Given the description of an element on the screen output the (x, y) to click on. 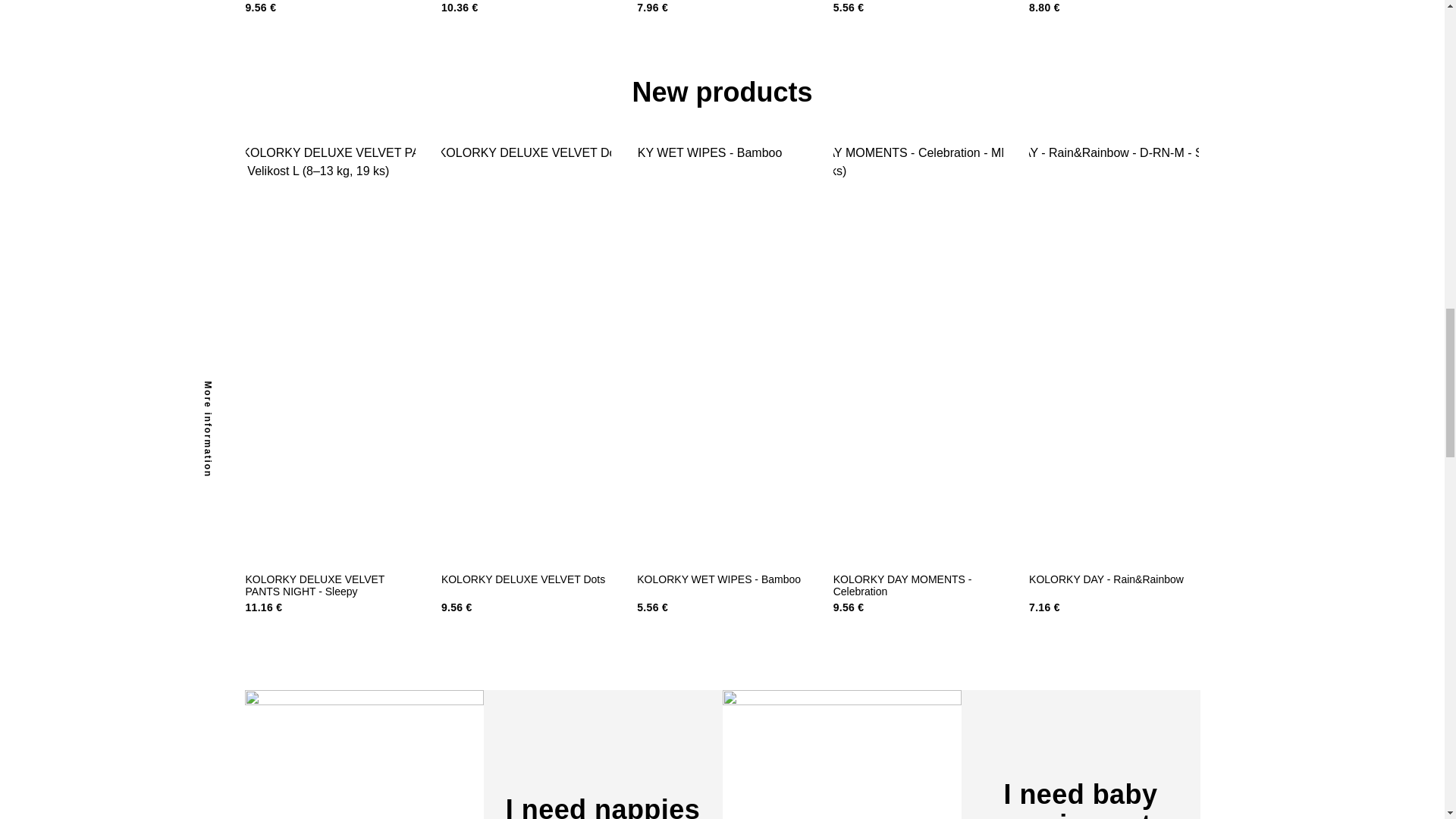
I need nappies (483, 754)
I need baby equipment (960, 754)
